Given the description of an element on the screen output the (x, y) to click on. 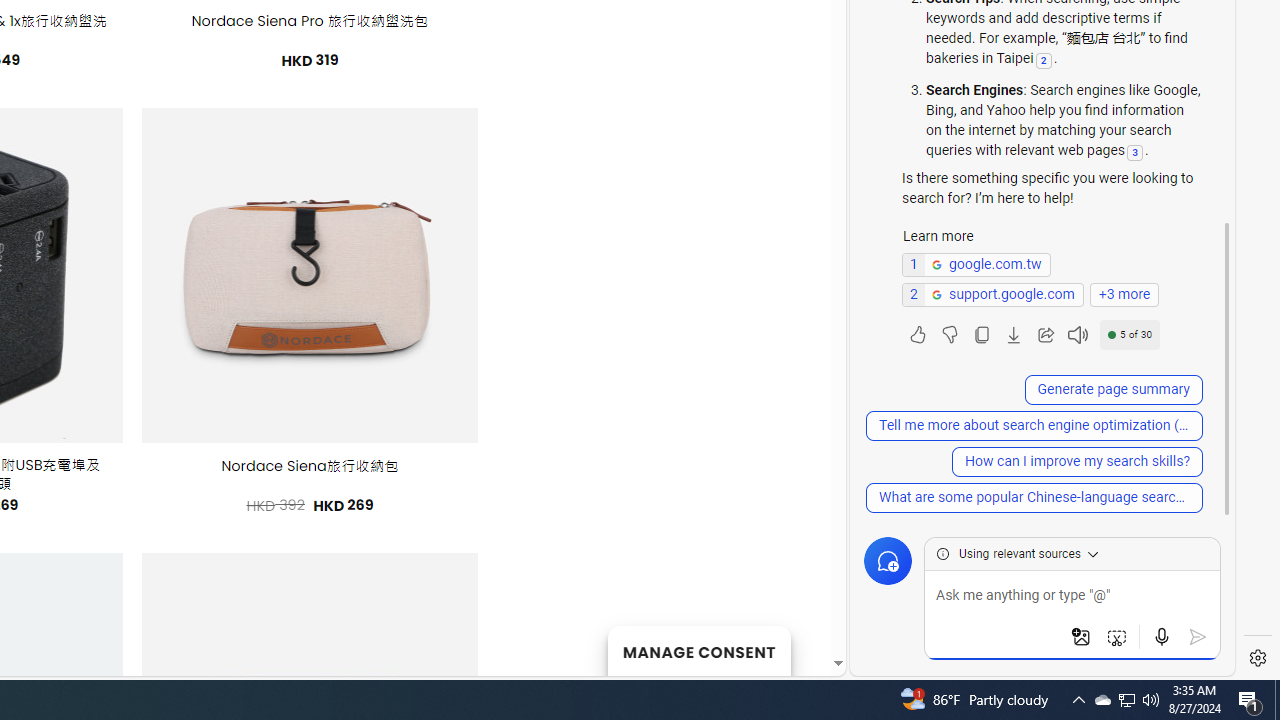
MANAGE CONSENT (698, 650)
